Given the description of an element on the screen output the (x, y) to click on. 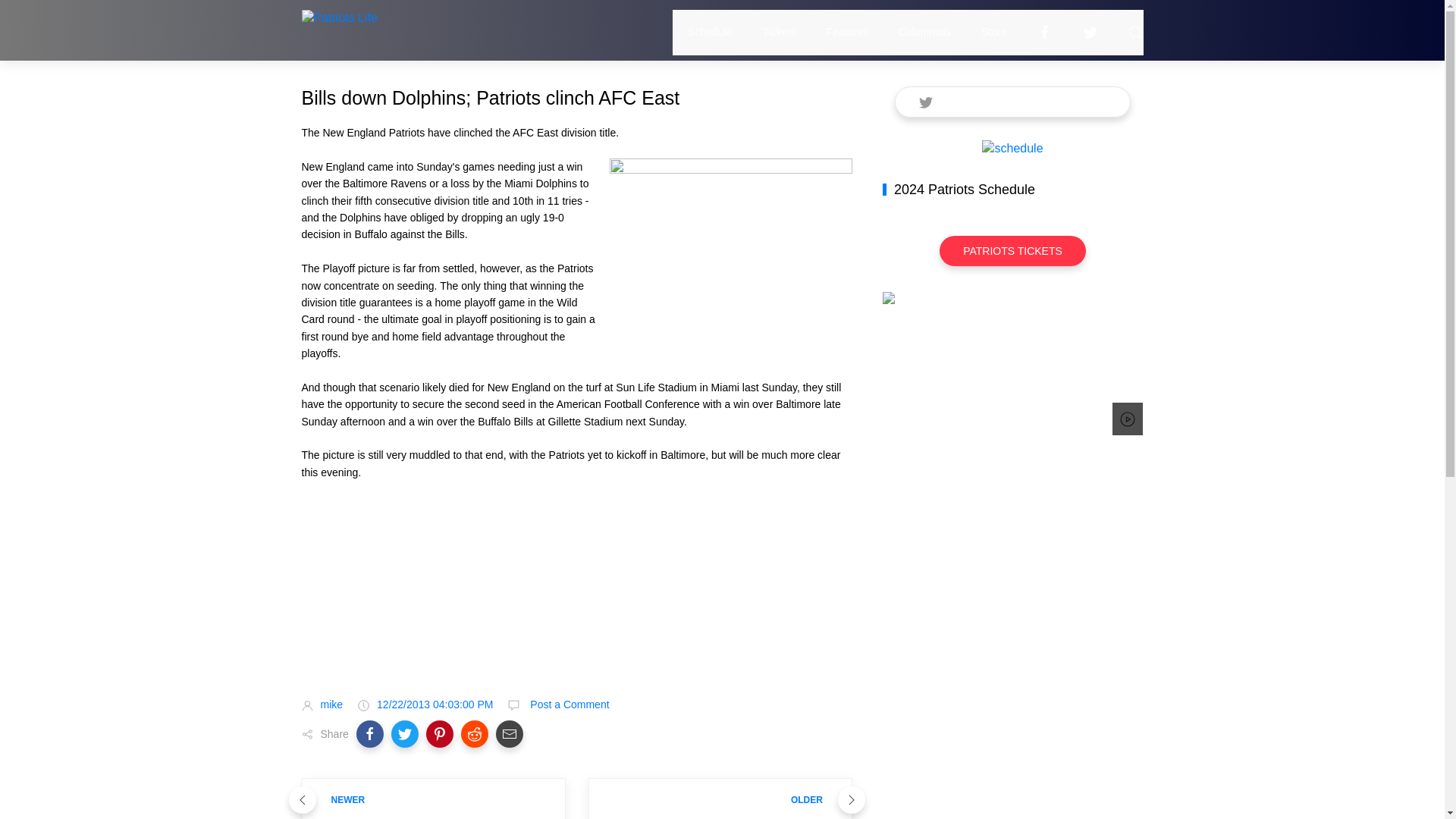
Schedule (709, 32)
PATRIOTS TICKETS (1012, 250)
Features (847, 32)
OLDER (719, 798)
Advertisement (576, 602)
mike (331, 704)
author profile (331, 704)
NEWER (433, 798)
Post a Comment (567, 704)
permanent link (435, 704)
Columnists (924, 32)
